Given the description of an element on the screen output the (x, y) to click on. 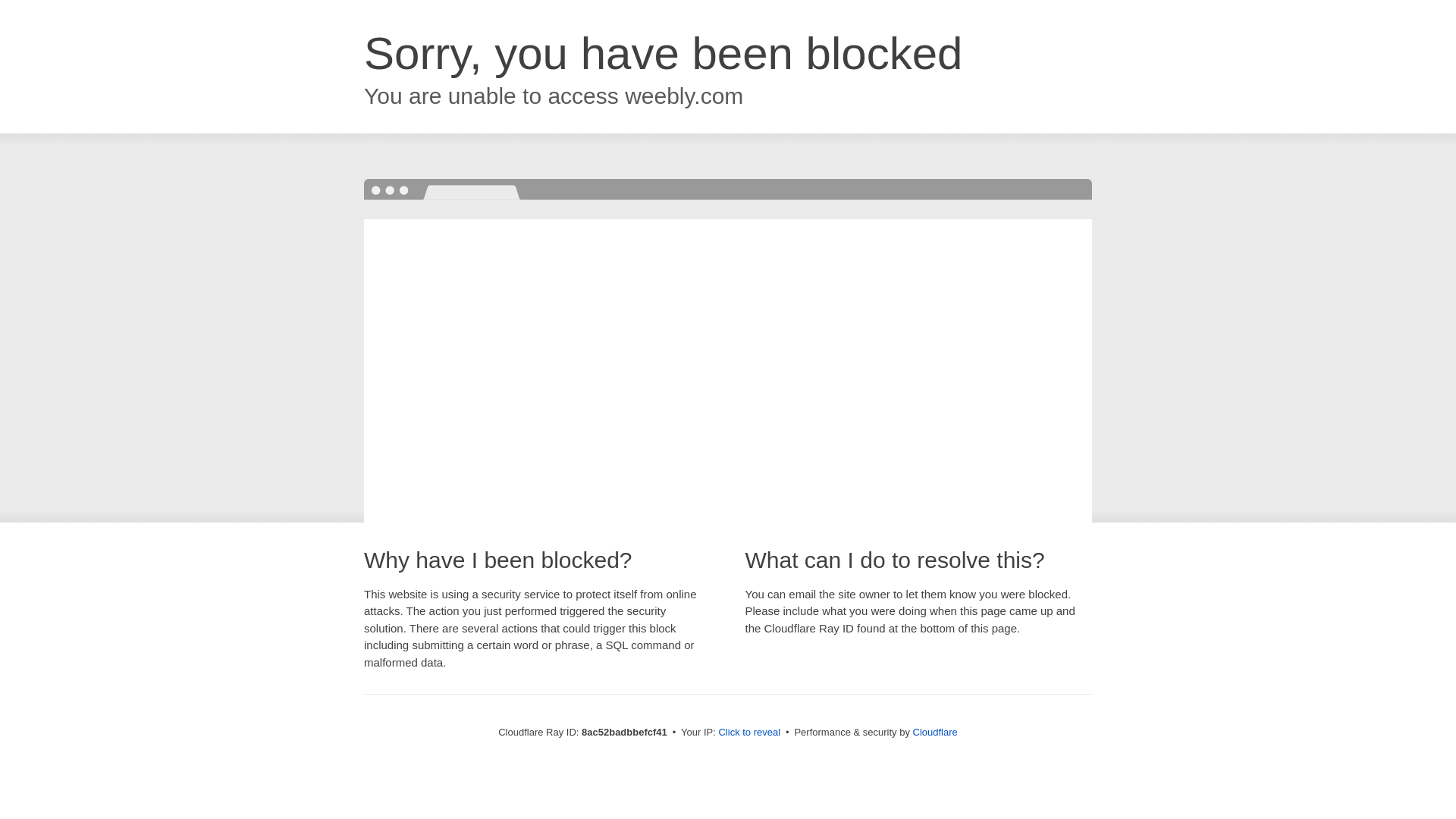
Click to reveal (748, 732)
Cloudflare (935, 731)
